Given the description of an element on the screen output the (x, y) to click on. 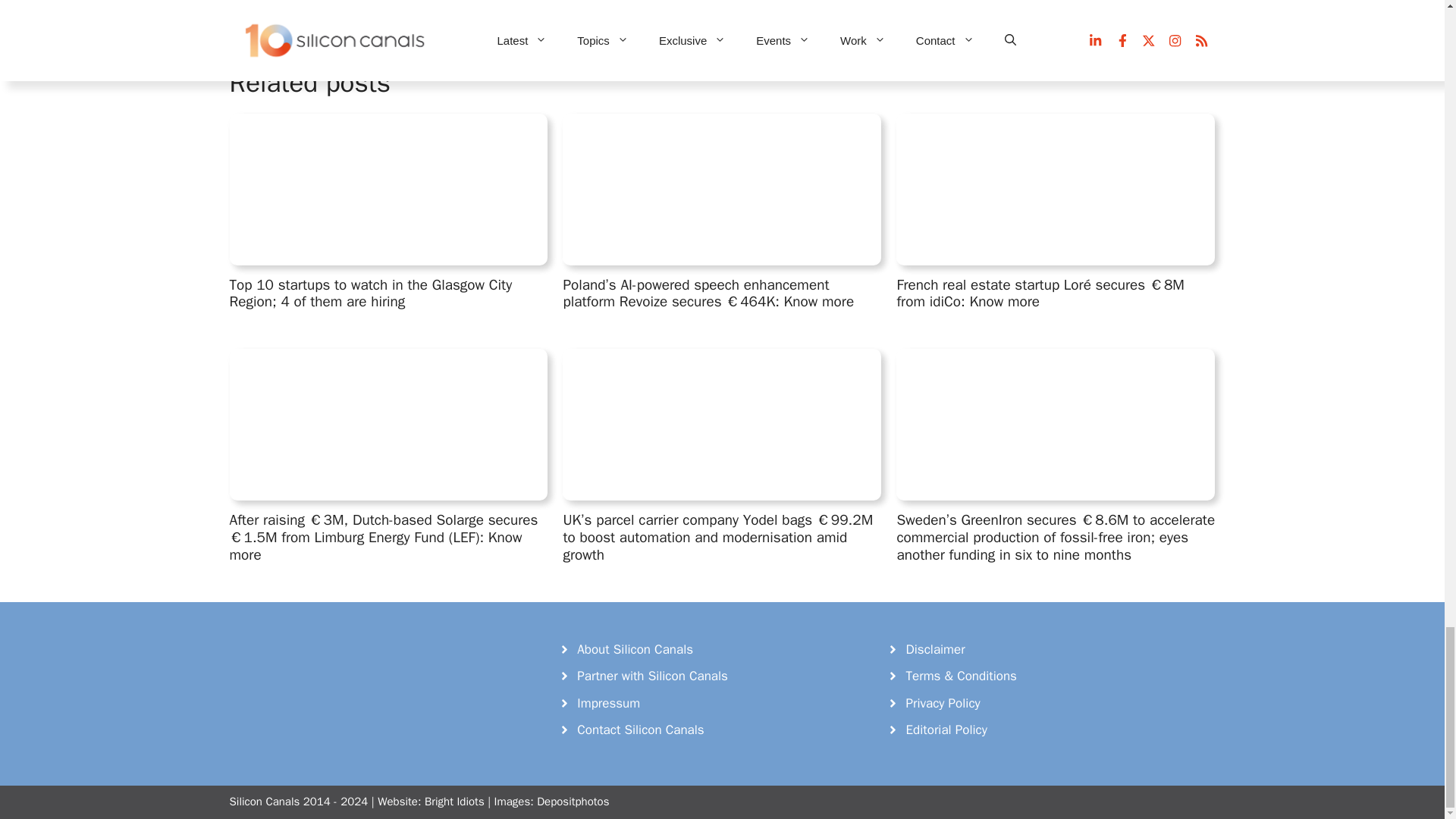
Silicon Canals logo white SC (342, 670)
